Given the description of an element on the screen output the (x, y) to click on. 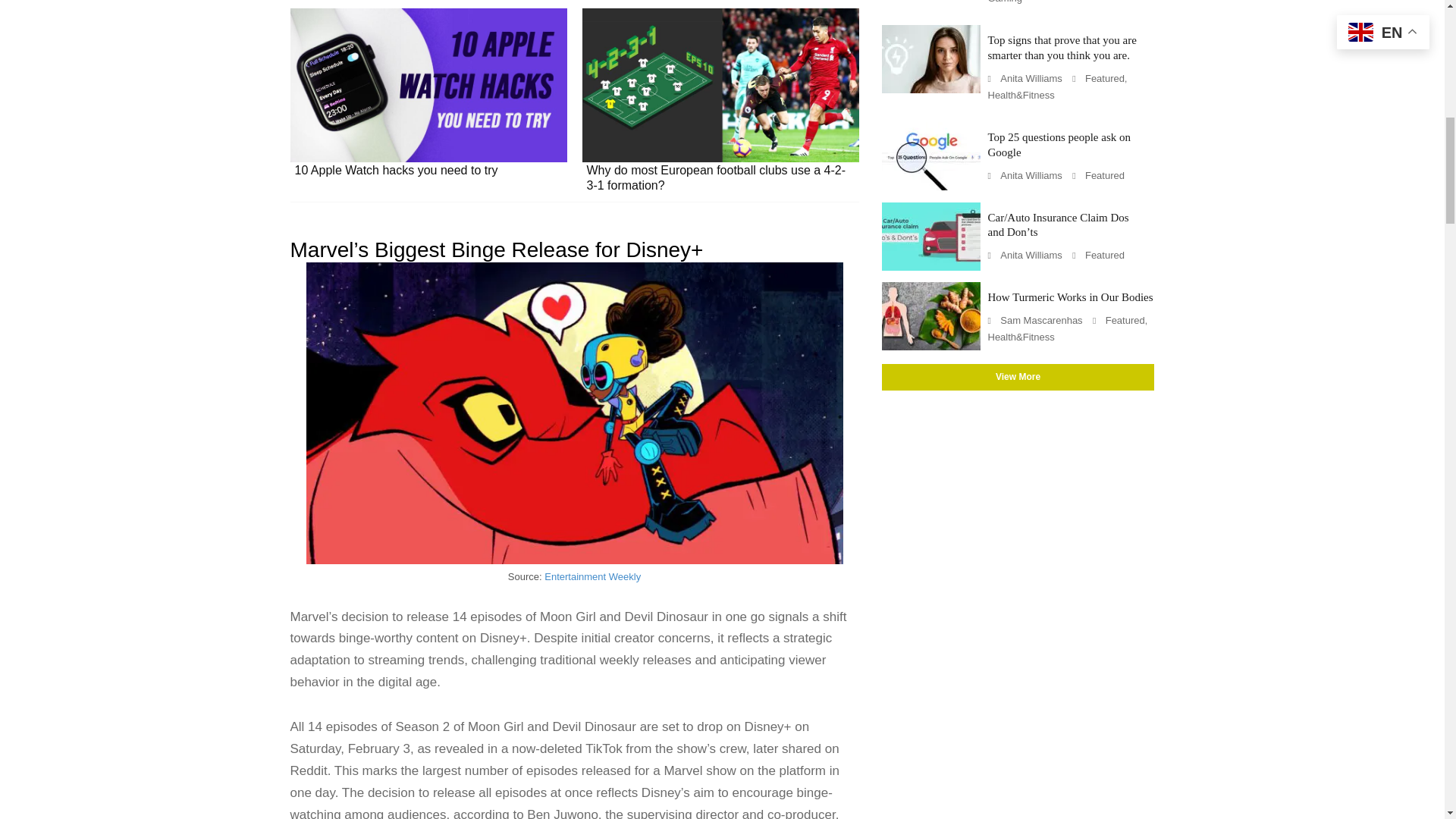
Entertainment Weekly (592, 576)
